Given the description of an element on the screen output the (x, y) to click on. 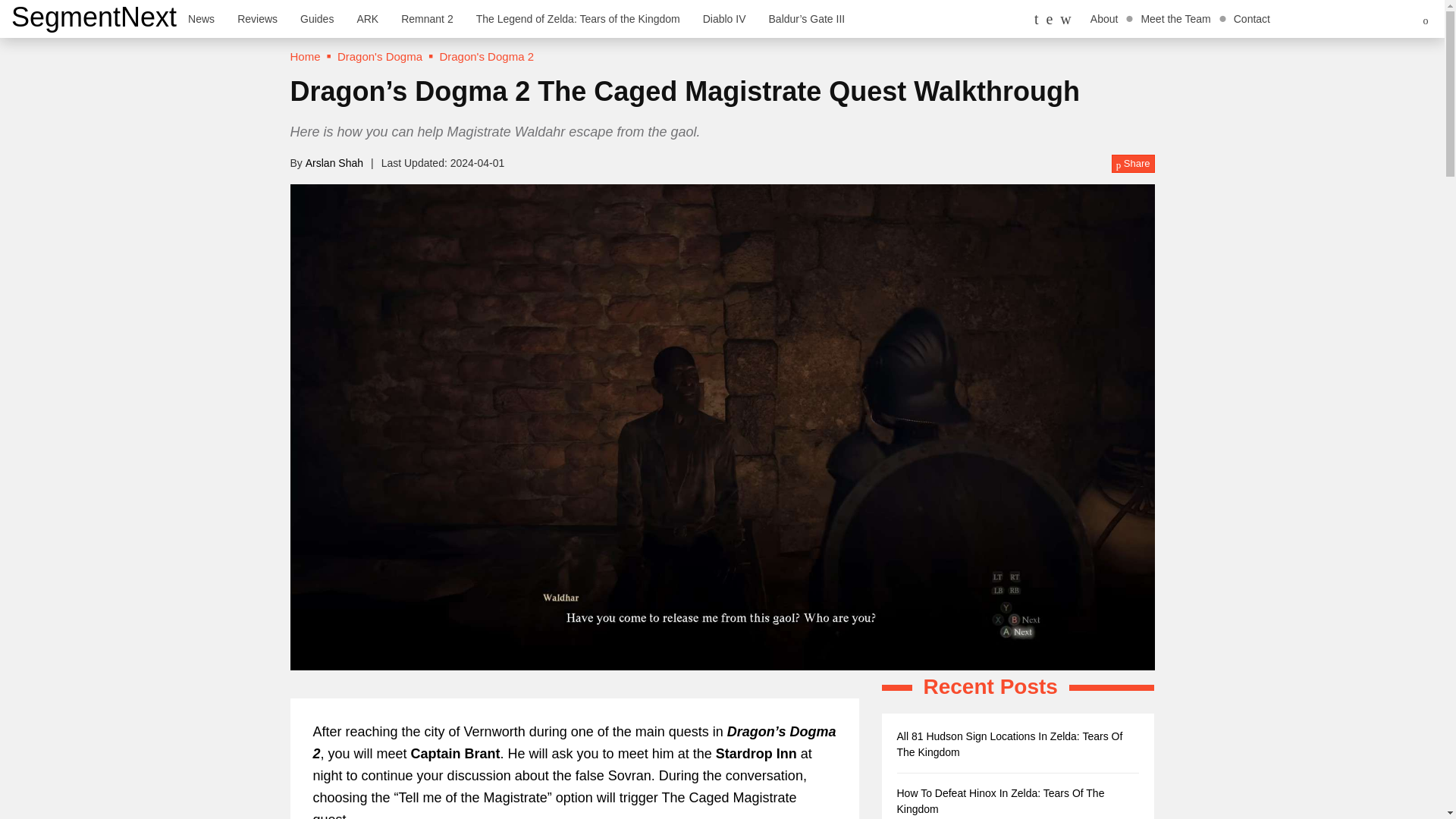
Diablo IV (724, 18)
The Legend of Zelda: Tears of the Kingdom (577, 18)
Reviews (256, 18)
Arslan Shah (333, 162)
Reviews (256, 18)
Dragon's Dogma 2 (486, 56)
News (200, 18)
Guides (316, 18)
Baldur's Gate III (807, 18)
Remnant 2 (427, 18)
